Given the description of an element on the screen output the (x, y) to click on. 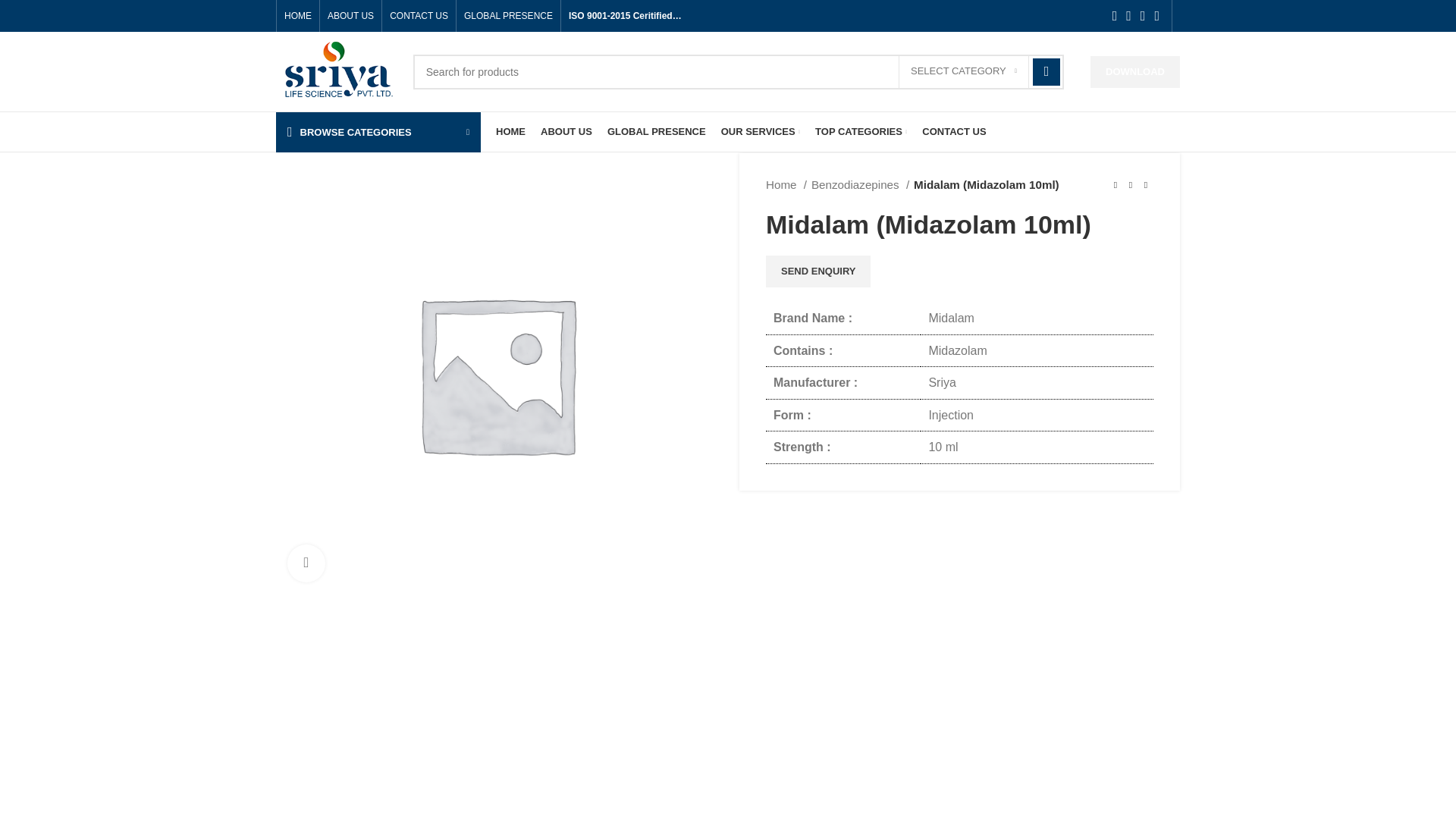
CONTACT US (419, 15)
Search for products (738, 71)
SELECT CATEGORY (963, 71)
SELECT CATEGORY (963, 71)
ABOUT US (350, 15)
GLOBAL PRESENCE (508, 15)
